Given the description of an element on the screen output the (x, y) to click on. 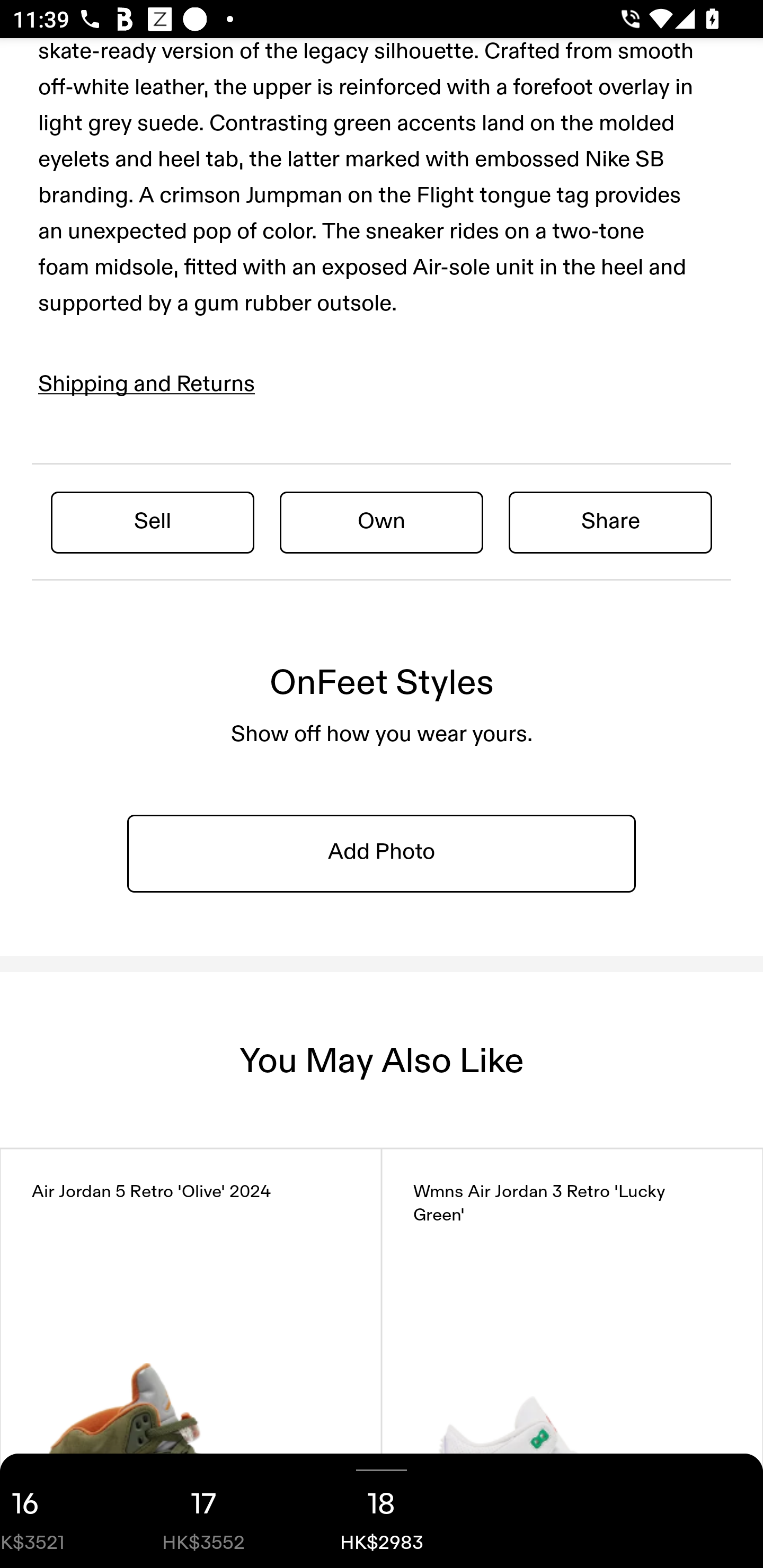
Shipping and Returns (146, 383)
Sell (152, 521)
Own (381, 521)
Share (609, 521)
Add Photo (381, 852)
Air Jordan 5 Retro 'Olive' 2024 (190, 1357)
Wmns Air Jordan 3 Retro 'Lucky Green' (572, 1357)
16 HK$3521 (57, 1510)
17 HK$3552 (203, 1510)
18 HK$2983 (381, 1510)
